Given the description of an element on the screen output the (x, y) to click on. 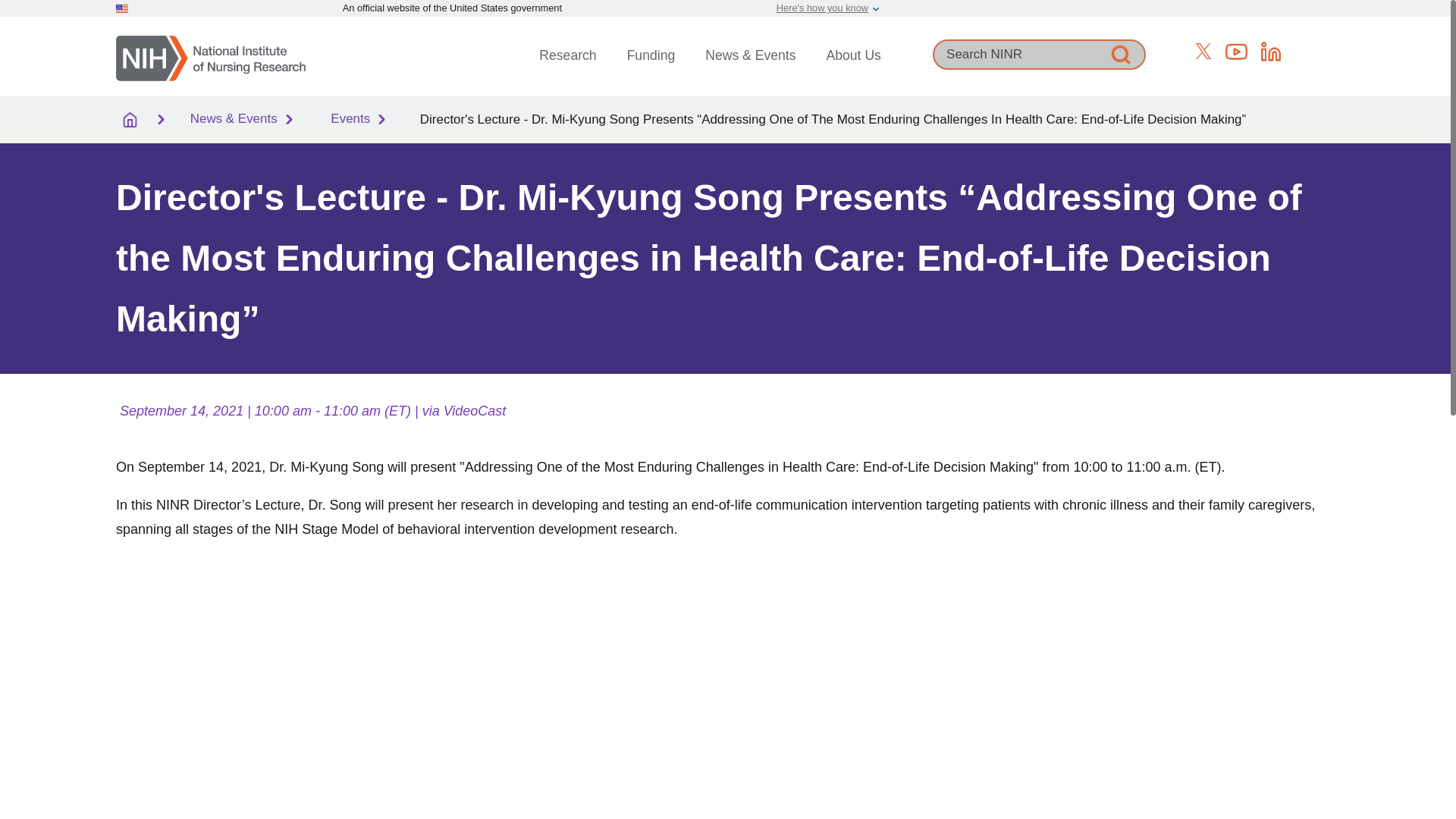
YouTube video player (328, 674)
Research (567, 55)
Home (210, 56)
Funding (650, 55)
Here's how you know (821, 8)
About Us (853, 55)
